Given the description of an element on the screen output the (x, y) to click on. 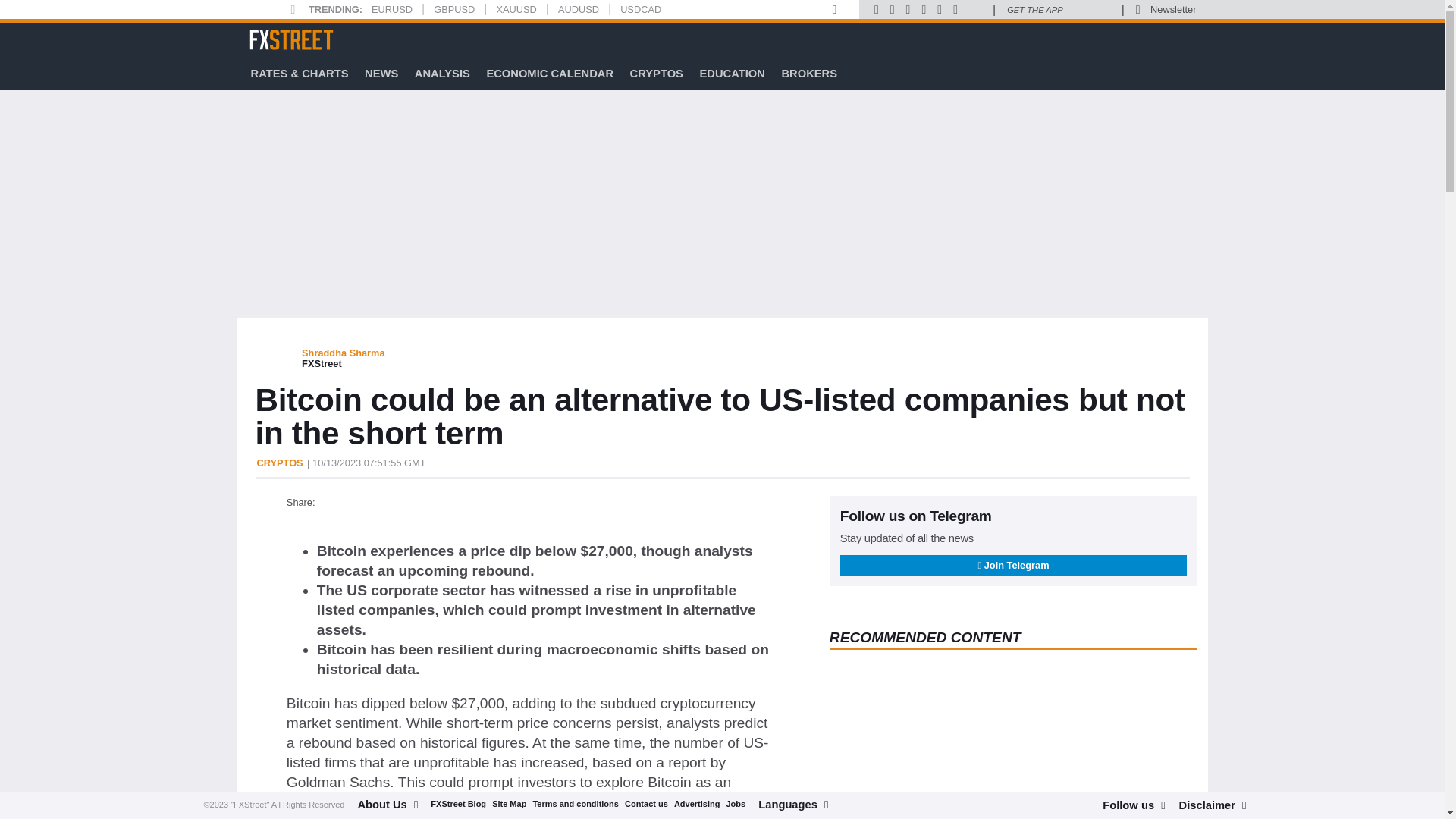
GBPUSD (453, 9)
AUDUSD (577, 9)
Newsletter (1172, 9)
EURUSD (391, 9)
FXStreet (290, 39)
XAUUSD (515, 9)
USDCAD (640, 9)
FinancialJuice (975, 9)
FXStreet (290, 39)
